Given the description of an element on the screen output the (x, y) to click on. 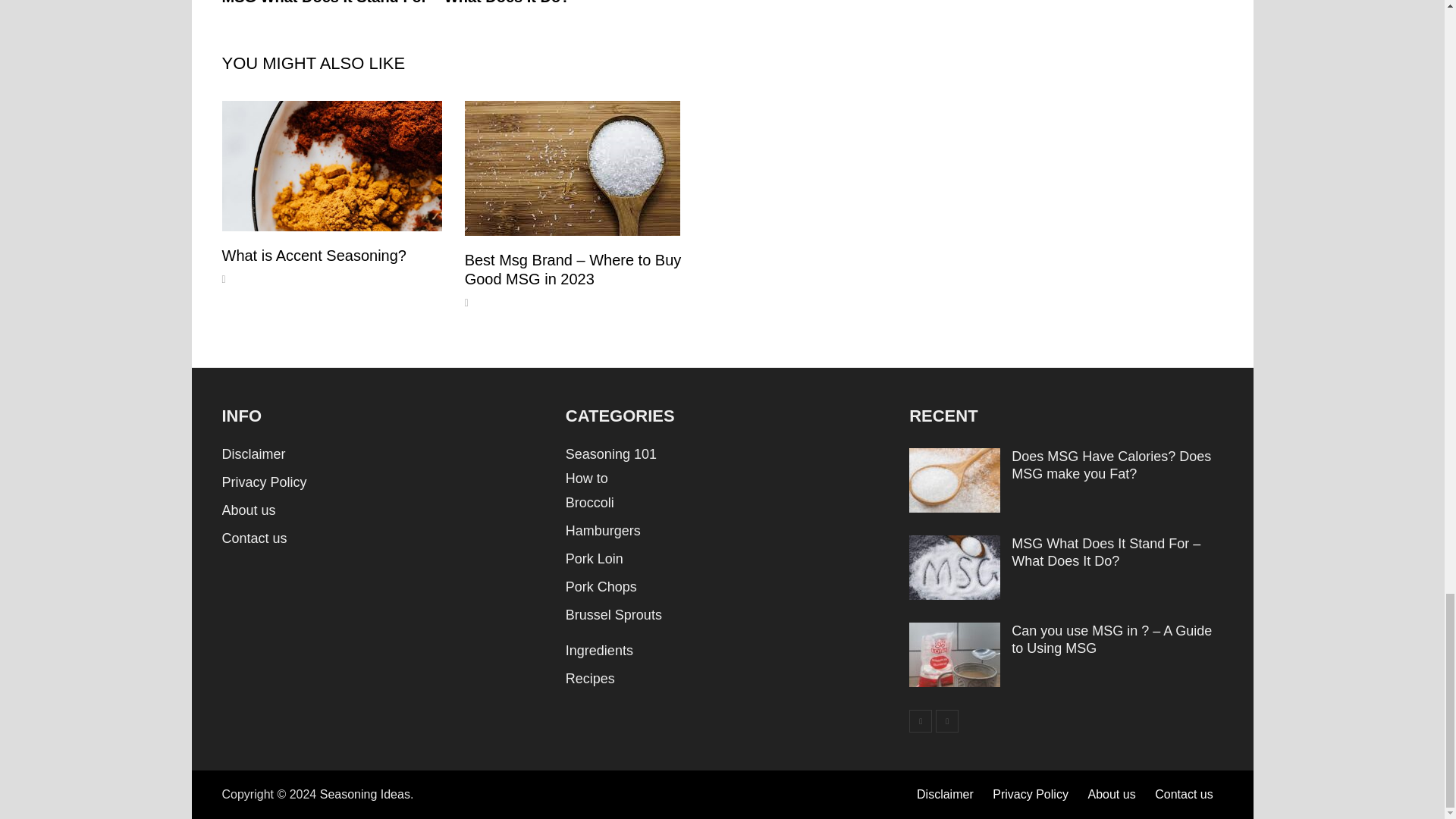
Seasoning Ideas (365, 793)
What is Accent Seasoning? (313, 255)
Does MSG Have Calories? Does MSG make you Fat? (954, 458)
